Given the description of an element on the screen output the (x, y) to click on. 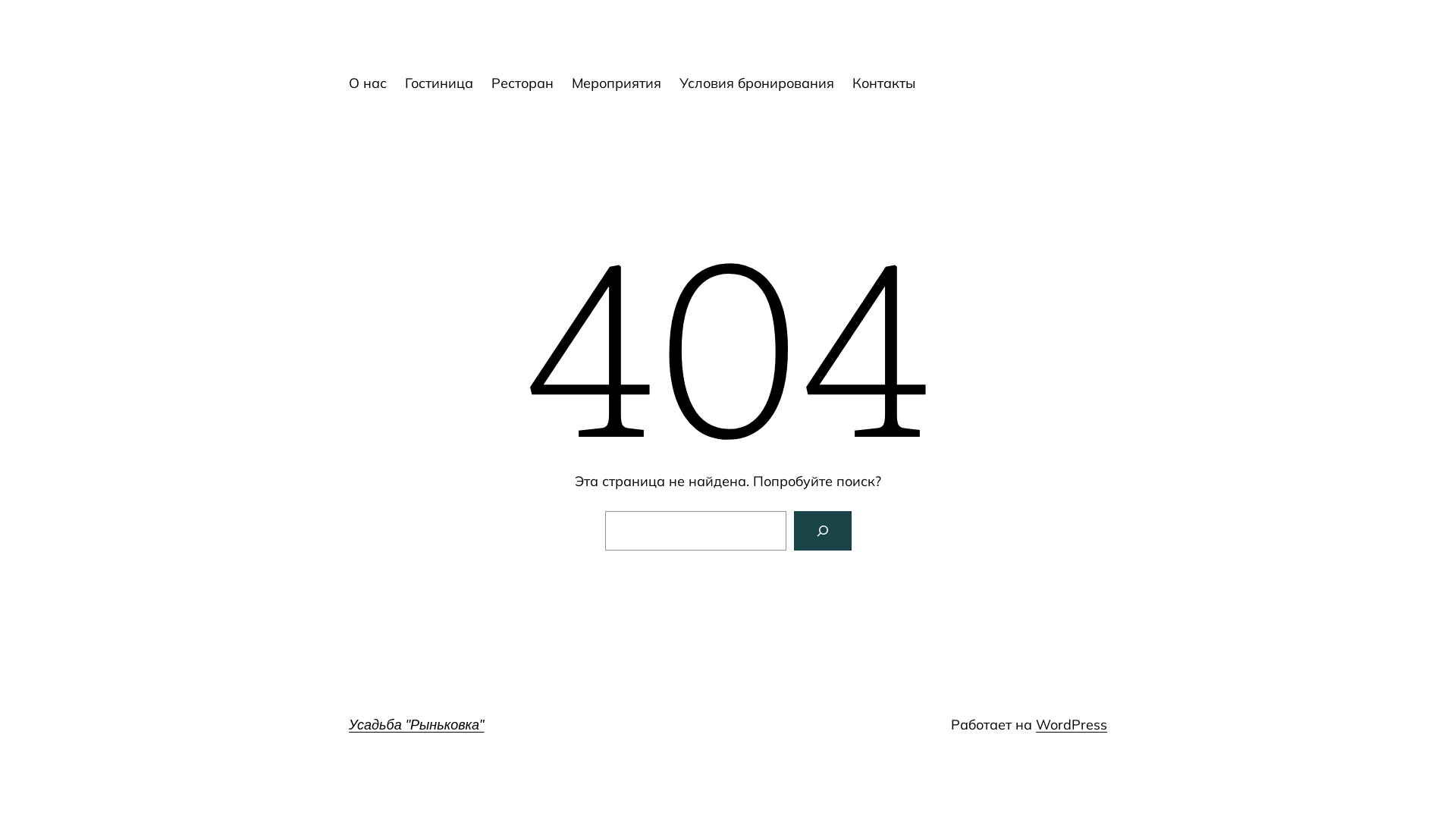
WordPress Element type: text (1071, 724)
